Given the description of an element on the screen output the (x, y) to click on. 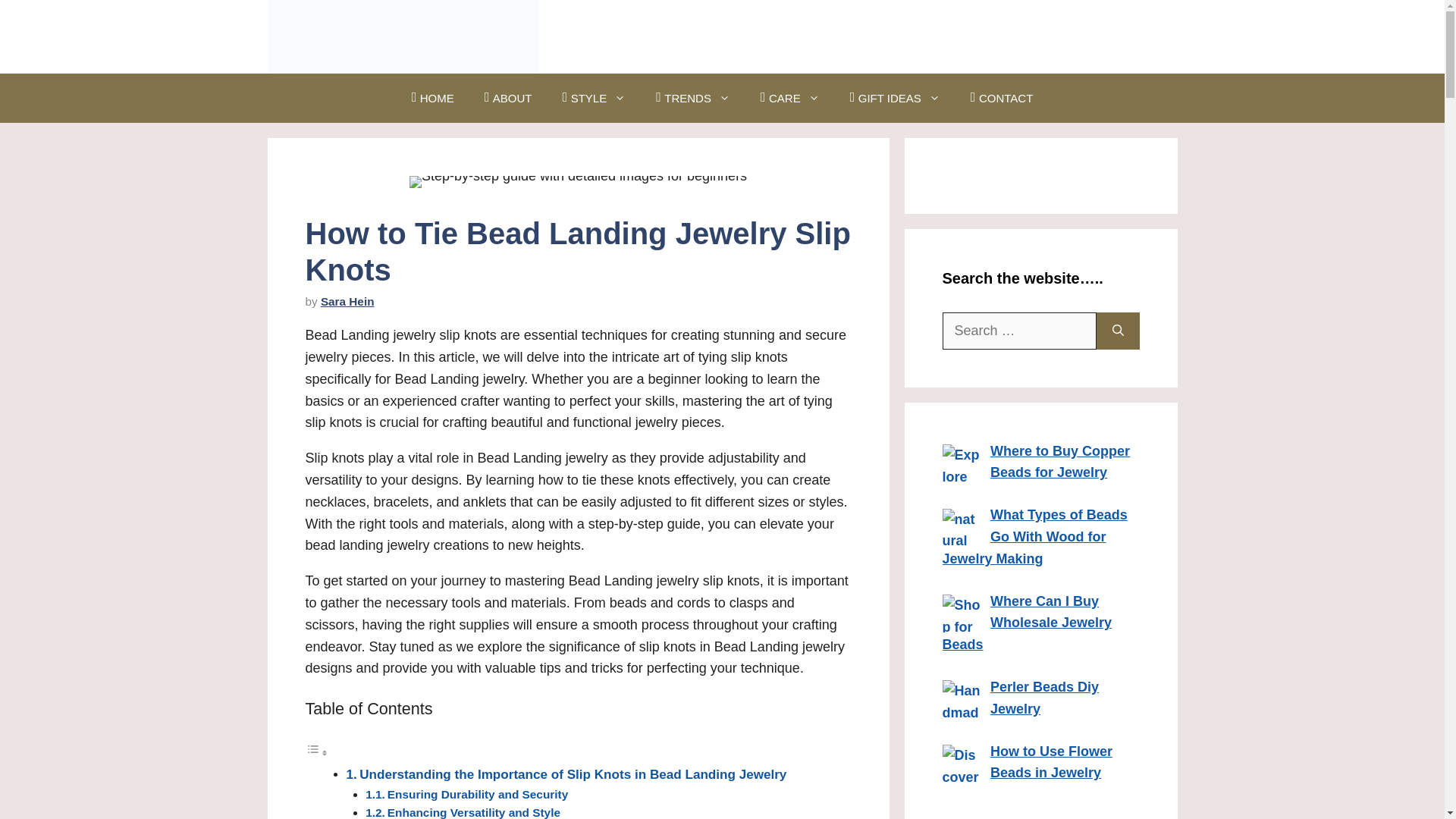
Enhancing Versatility and Style (473, 812)
Ensuring Durability and Security (477, 793)
STYLE (594, 97)
How to Tie Bead Landing Jewelry Slip Knots 1 (577, 182)
ABOUT (507, 97)
HOME (432, 97)
View all posts by Sara Hein (347, 300)
